Given the description of an element on the screen output the (x, y) to click on. 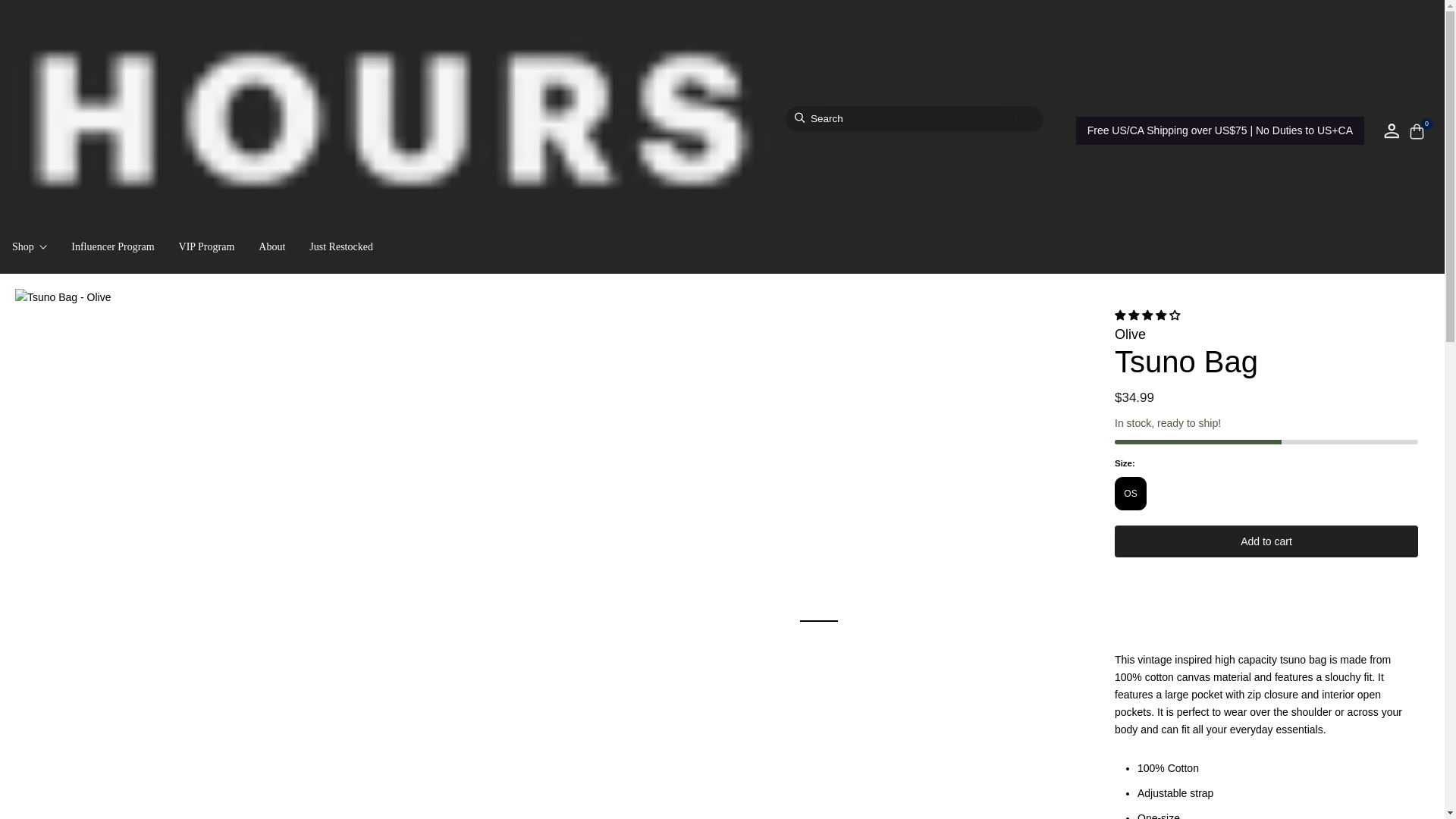
VIP Program (206, 246)
About (272, 246)
Shop (28, 246)
Influencer Program (112, 246)
Just Restocked (340, 246)
